Given the description of an element on the screen output the (x, y) to click on. 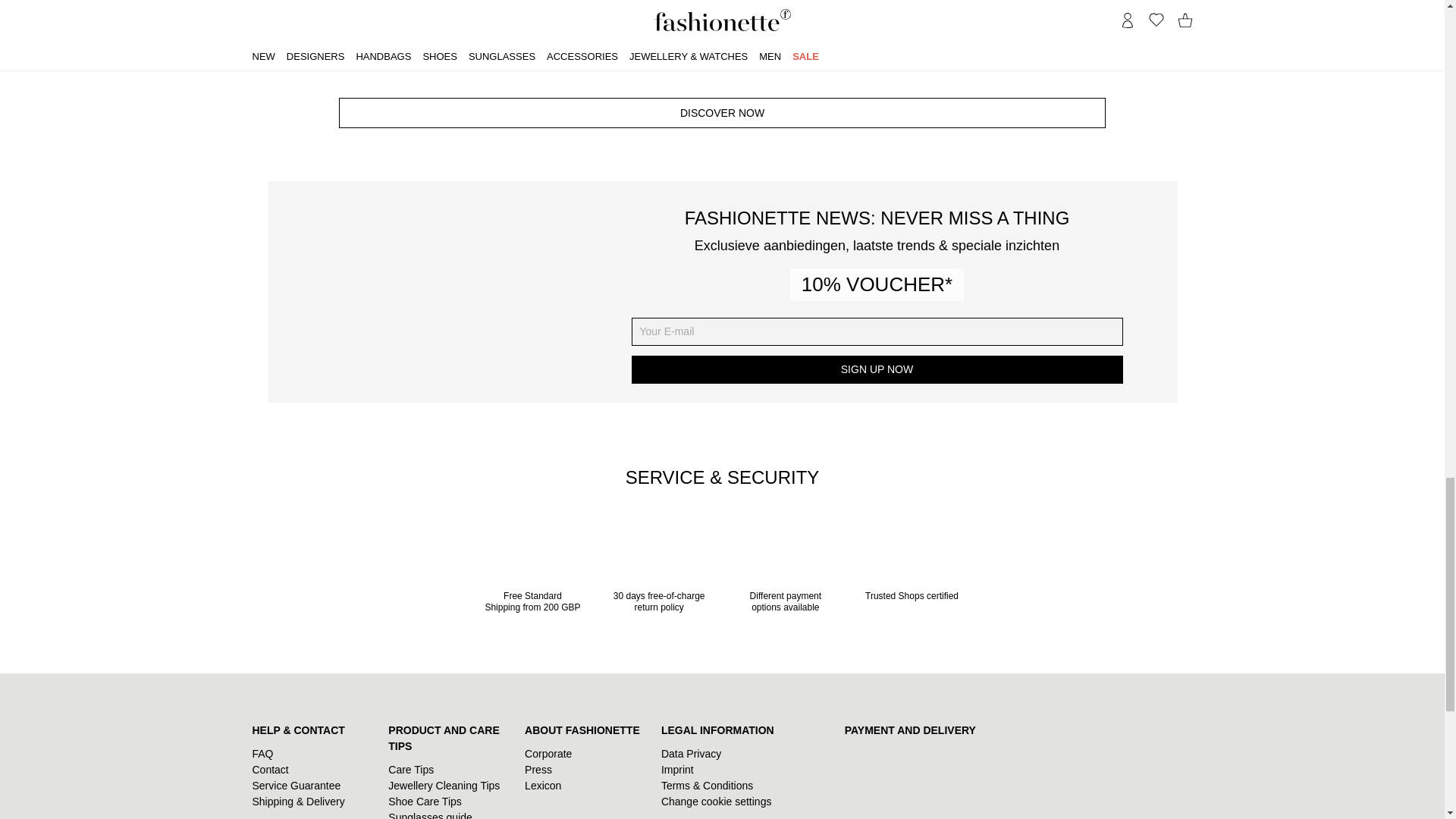
Always stylish, always classic (721, 64)
Sign up now (876, 369)
Contact (269, 769)
30 days free-of-charge return policy (659, 575)
FAQ (721, 64)
Free Standard Shipping from 200 GBP (262, 753)
Trusted Shops certified (532, 575)
FAQ (911, 569)
Sign up now (262, 753)
Different payment options available (876, 369)
